Given the description of an element on the screen output the (x, y) to click on. 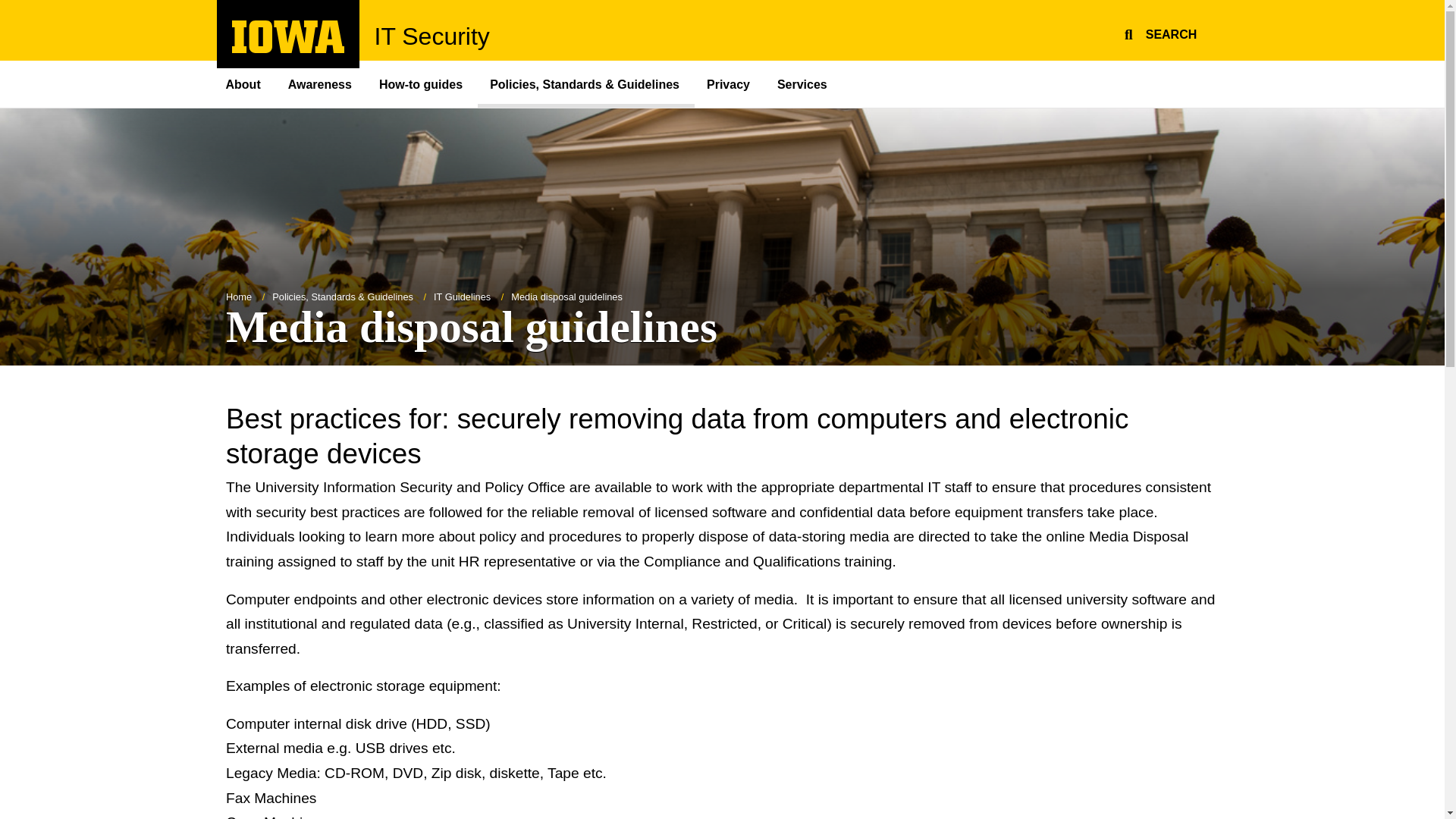
Services (804, 83)
About (250, 83)
How-to guides (421, 83)
Skip to main content (7, 7)
IT Guidelines (461, 296)
Privacy (729, 83)
IT Security (431, 36)
University of Iowa (288, 36)
UI Privacy Program (729, 83)
Awareness (321, 83)
SEARCH (1157, 32)
Home (288, 48)
Services (238, 296)
How-to guides (804, 83)
